Given the description of an element on the screen output the (x, y) to click on. 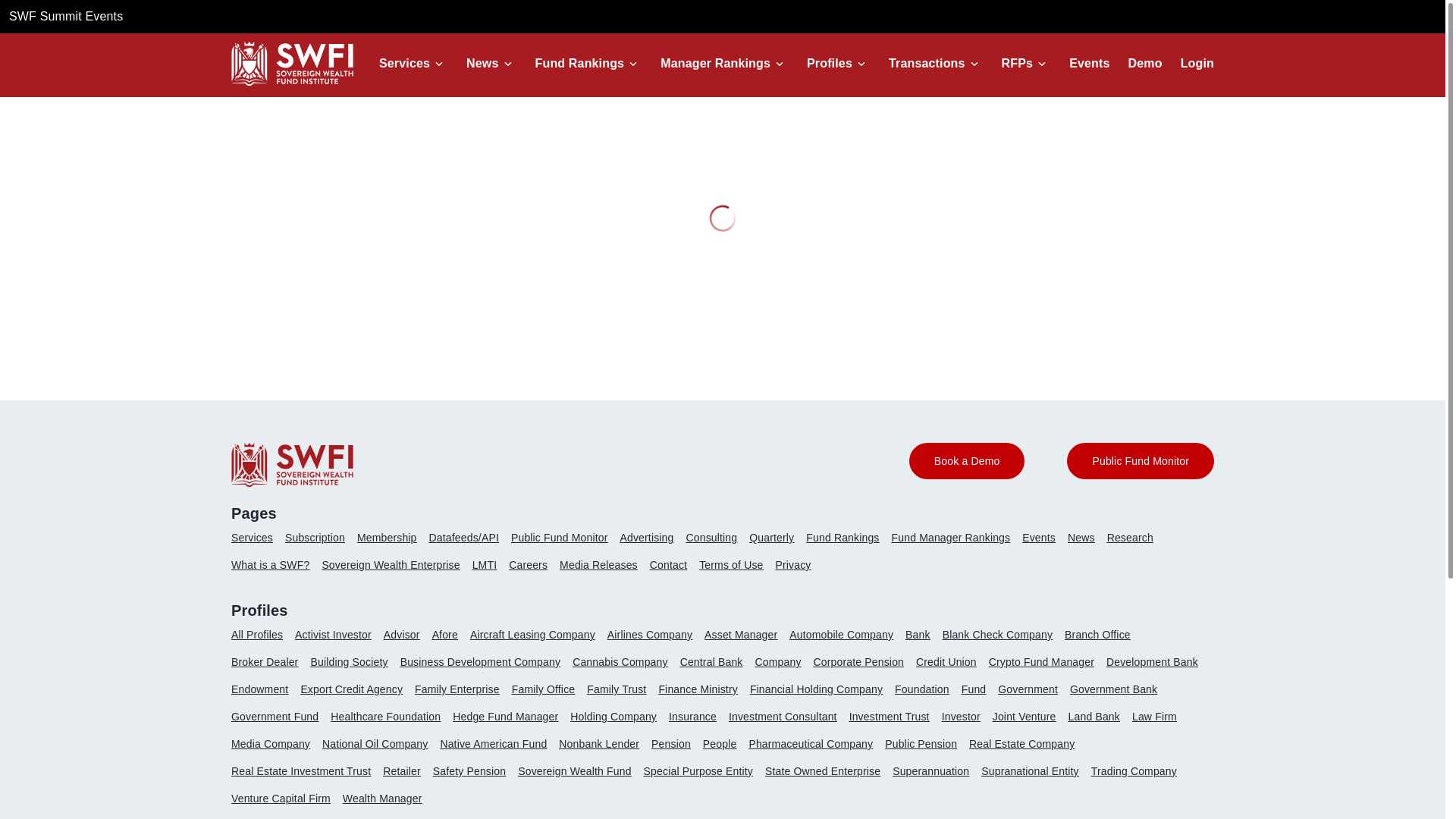
Services (403, 63)
SWF Summit Events (65, 15)
Manager Rankings (715, 63)
News (481, 63)
Fund Rankings (579, 63)
